Given the description of an element on the screen output the (x, y) to click on. 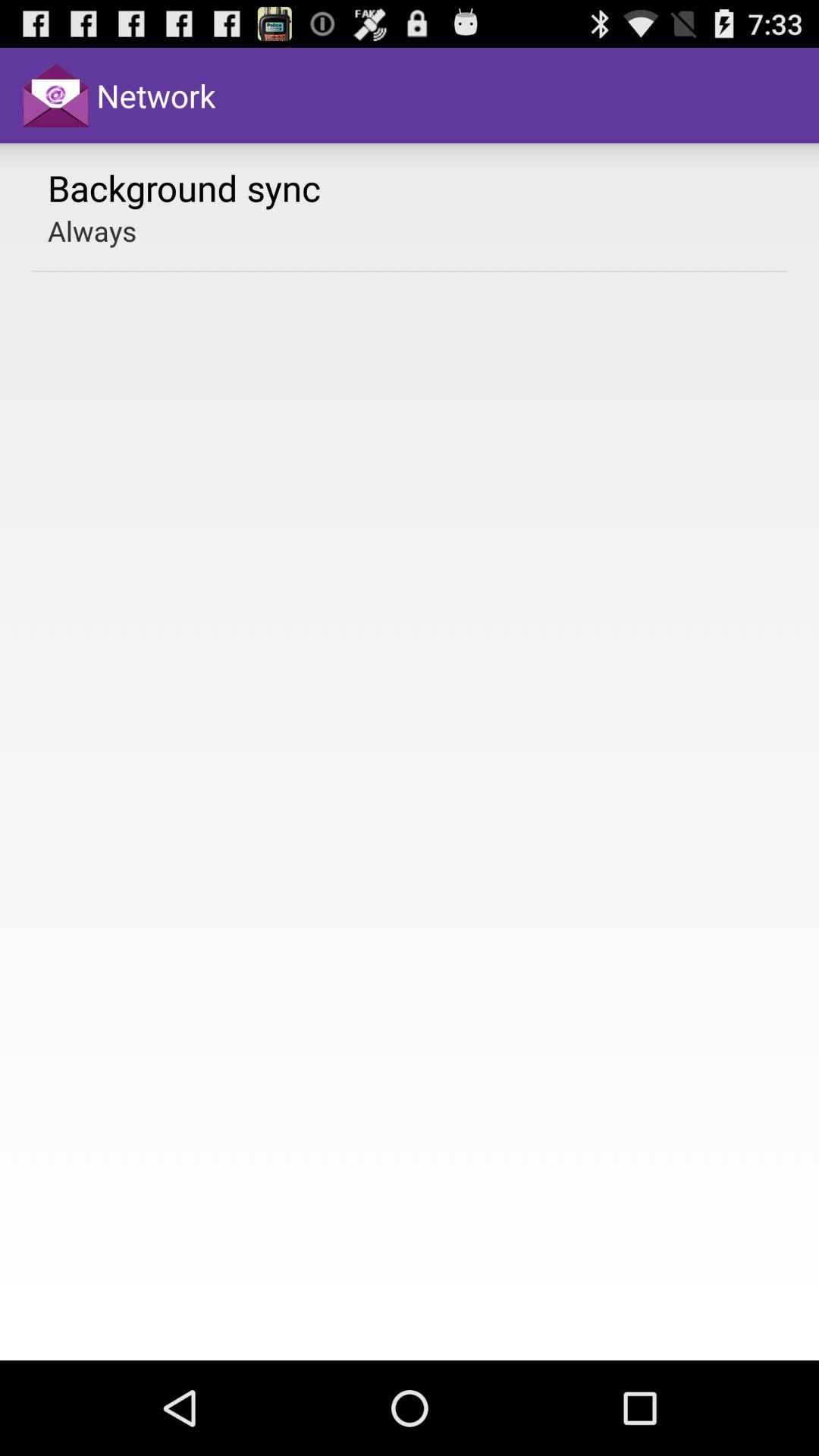
flip until always item (91, 230)
